Given the description of an element on the screen output the (x, y) to click on. 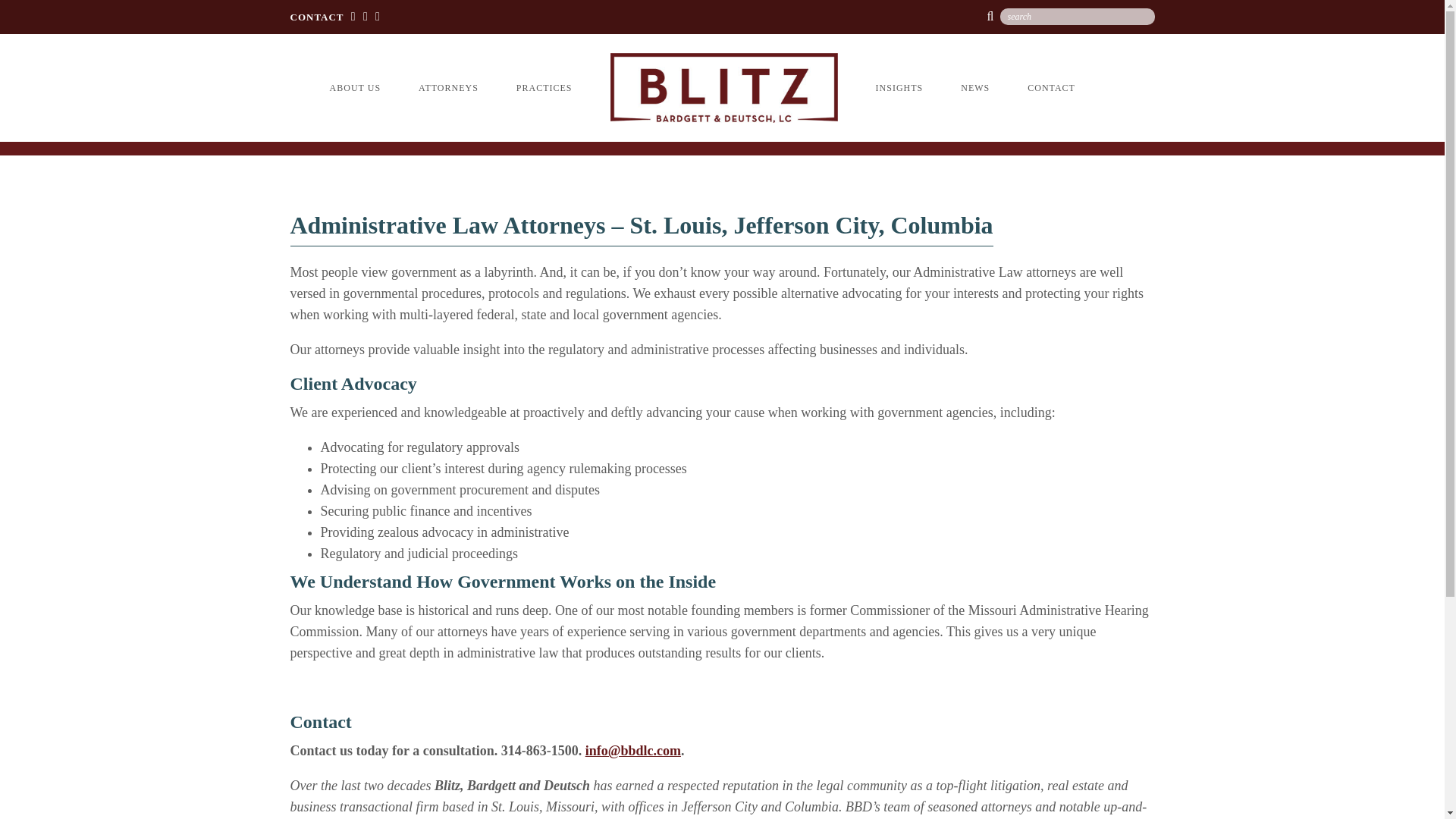
CONTACT (1051, 88)
ATTORNEYS (449, 88)
CONTACT (316, 16)
INSIGHTS (899, 88)
ABOUT US (355, 88)
NEWS (975, 88)
PRACTICES (544, 88)
